Given the description of an element on the screen output the (x, y) to click on. 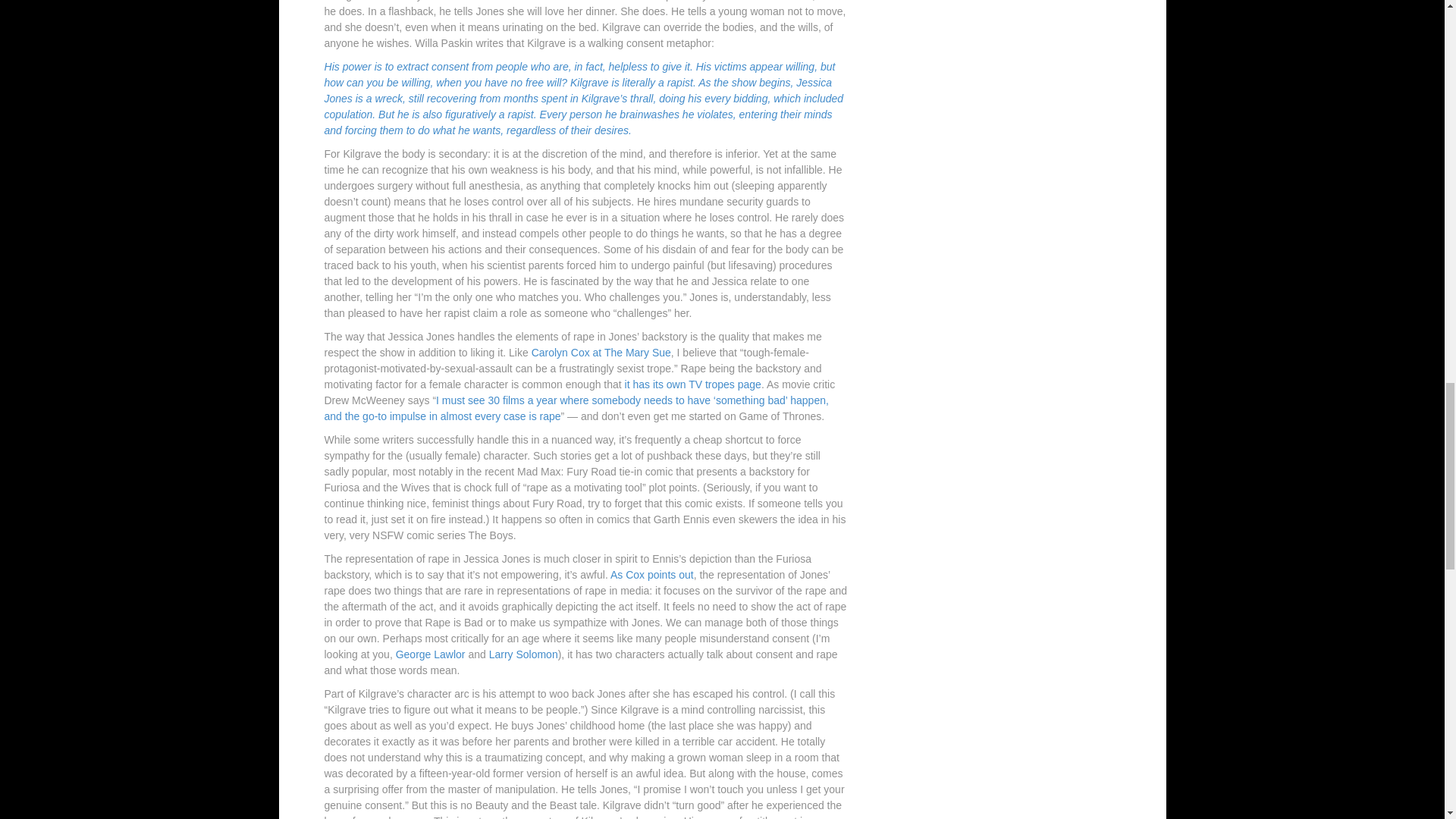
Carolyn Cox at The Mary Sue (601, 352)
George Lawlor (430, 654)
it has its own TV tropes page (692, 384)
As Cox points out (652, 574)
Larry Solomon (523, 654)
